Given the description of an element on the screen output the (x, y) to click on. 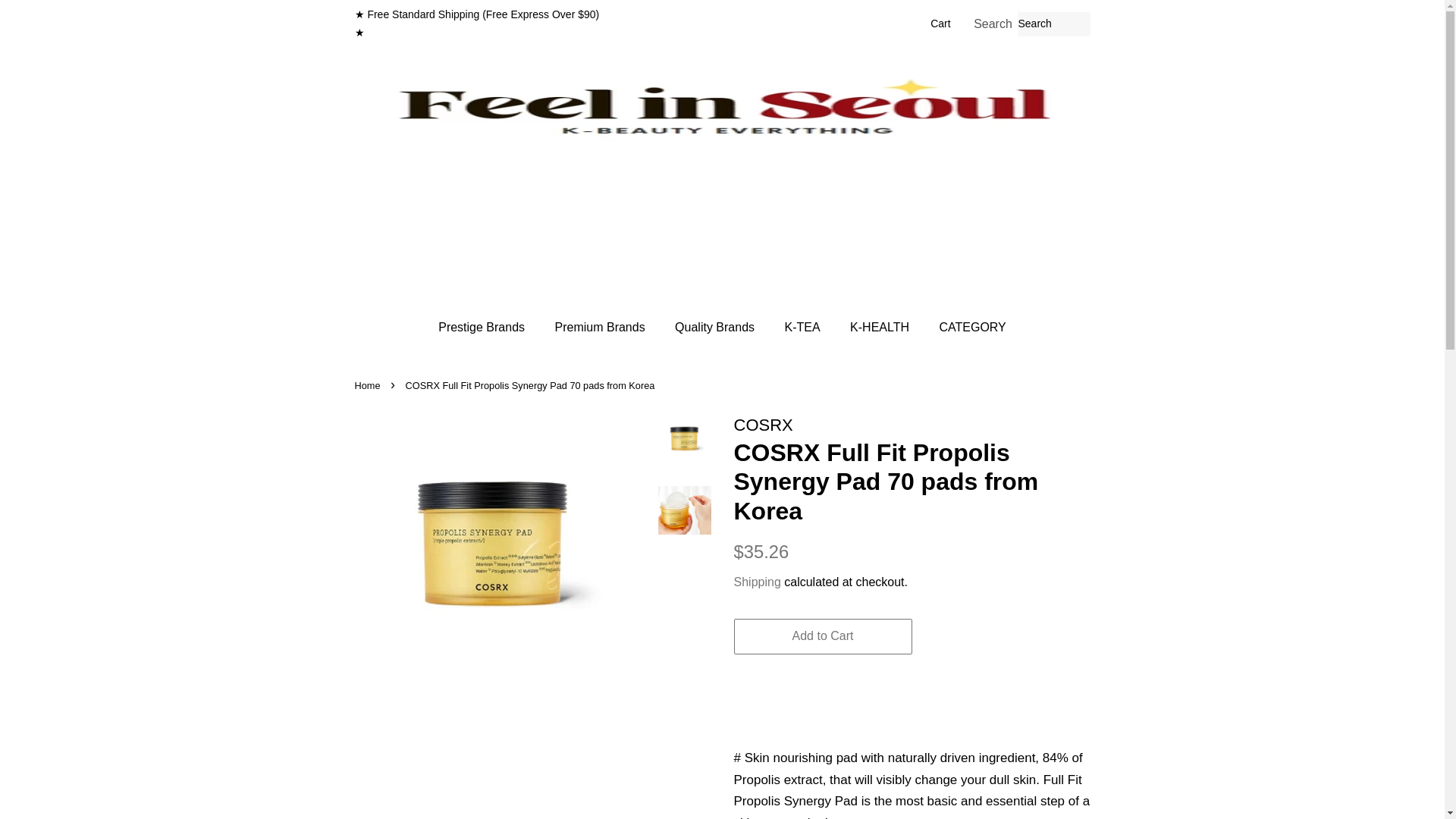
Back to the frontpage (369, 385)
Search (993, 24)
Cart (940, 24)
